Given the description of an element on the screen output the (x, y) to click on. 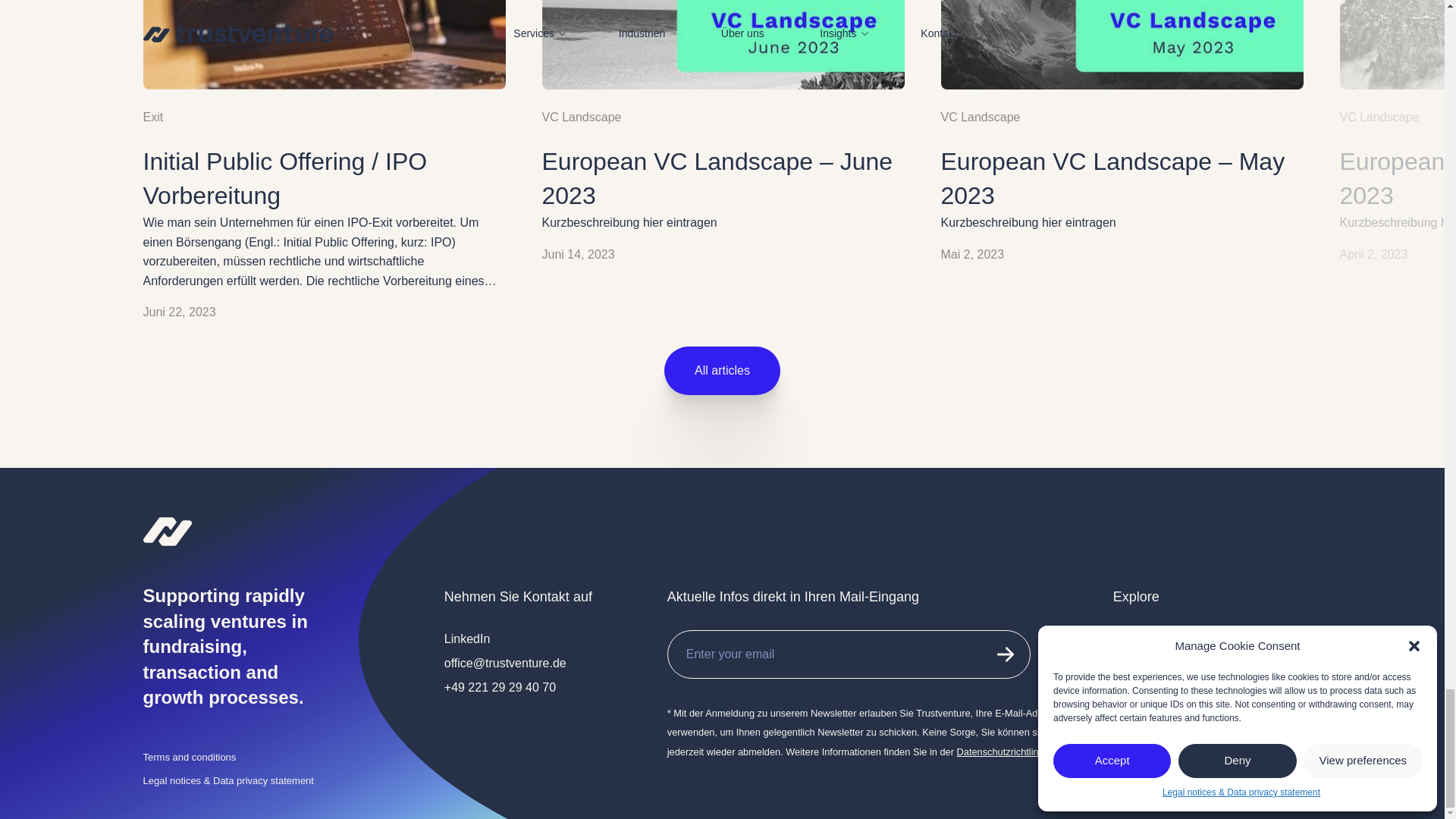
LinkedIn (467, 638)
